Given the description of an element on the screen output the (x, y) to click on. 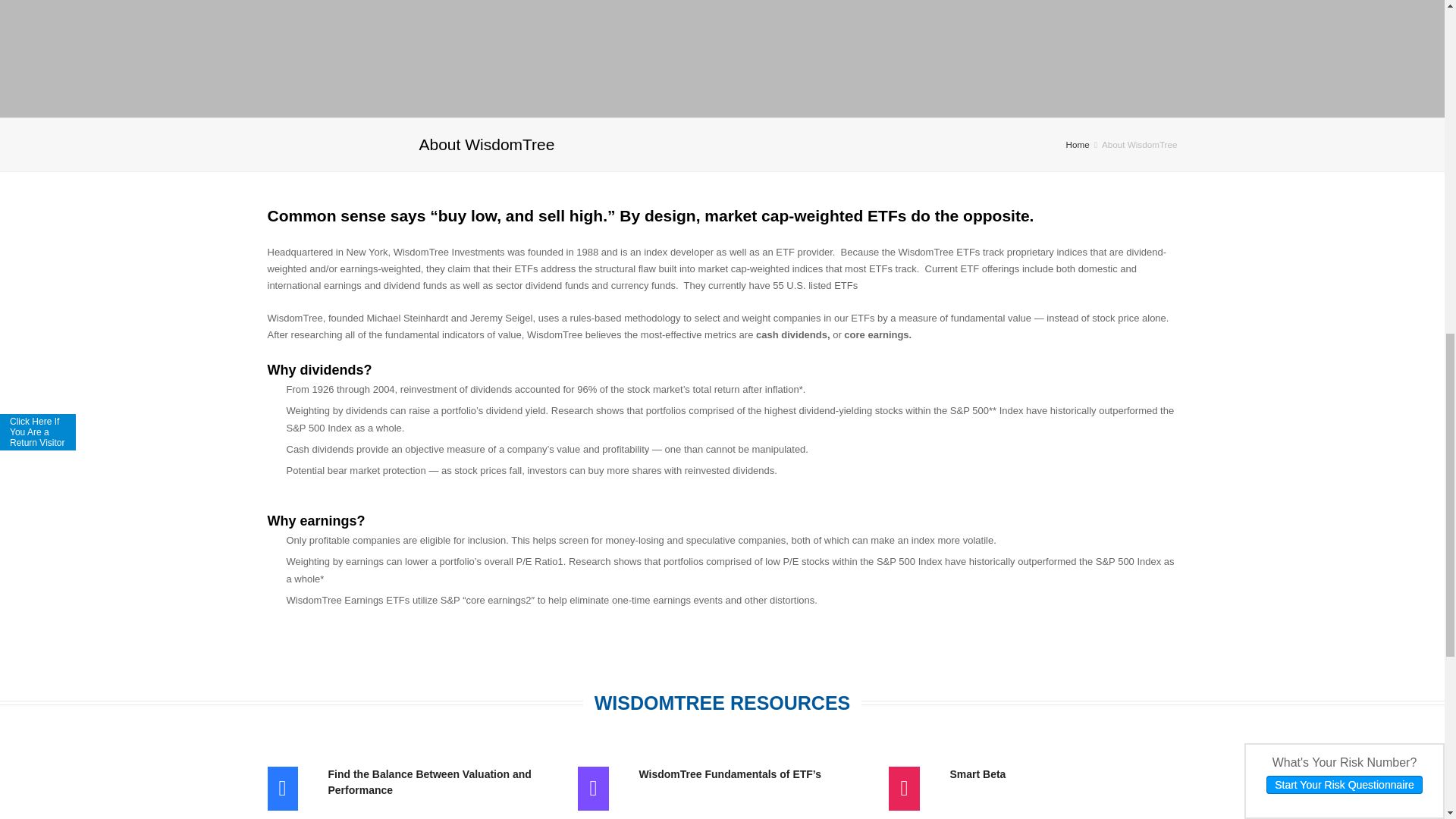
Smart Beta (1062, 774)
Find the Balance Between Valuation and Performance (440, 782)
